Given the description of an element on the screen output the (x, y) to click on. 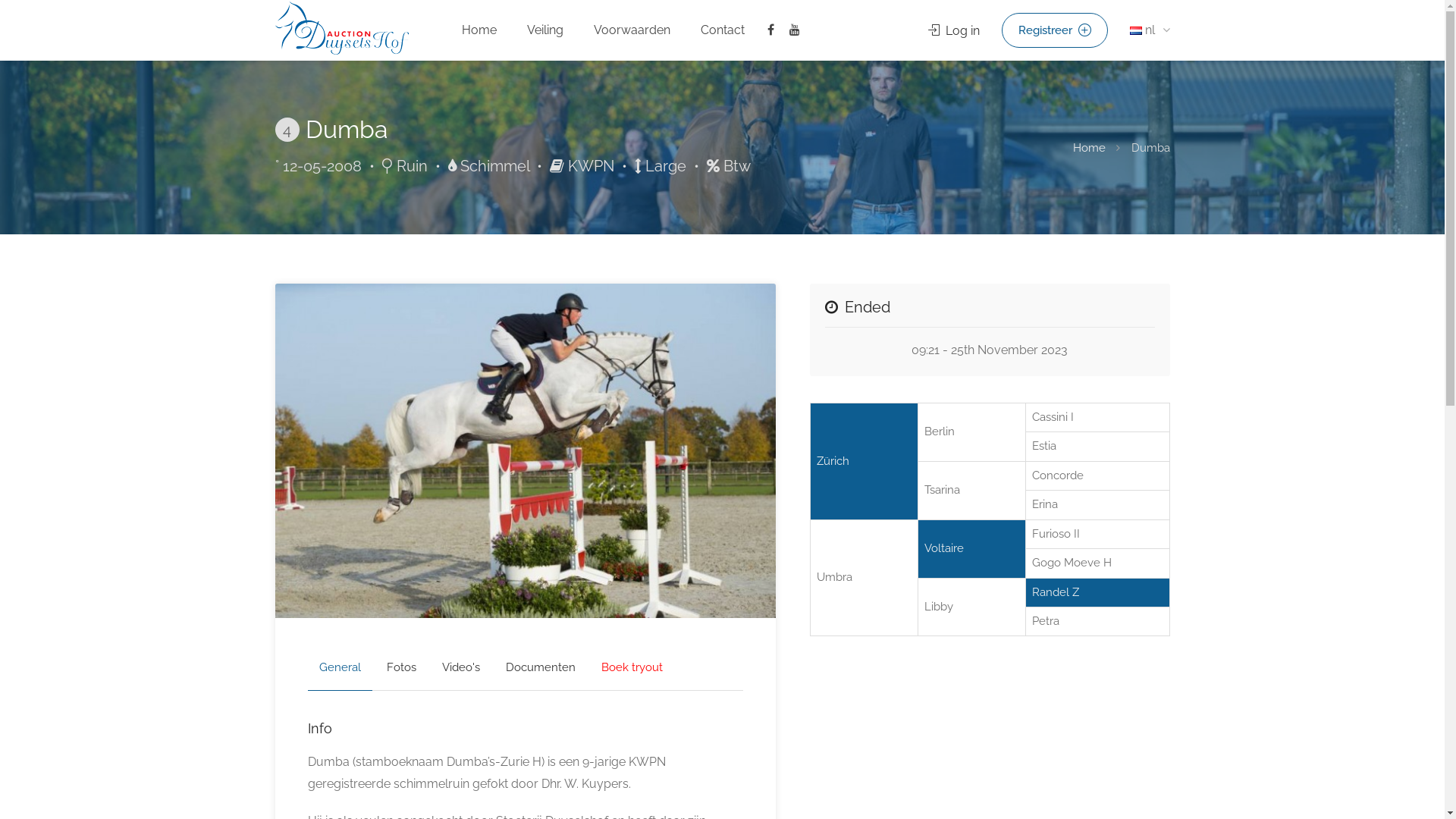
Log in Element type: text (953, 30)
Video's Element type: text (460, 667)
General Element type: text (339, 667)
Registreer Element type: text (1054, 29)
Home Element type: text (479, 30)
Fotos Element type: text (400, 667)
Documenten Element type: text (540, 667)
Boek tryout Element type: text (631, 667)
Contact Element type: text (721, 30)
Voorwaarden Element type: text (631, 30)
Home Element type: text (1088, 146)
Veiling Element type: text (544, 30)
